Given the description of an element on the screen output the (x, y) to click on. 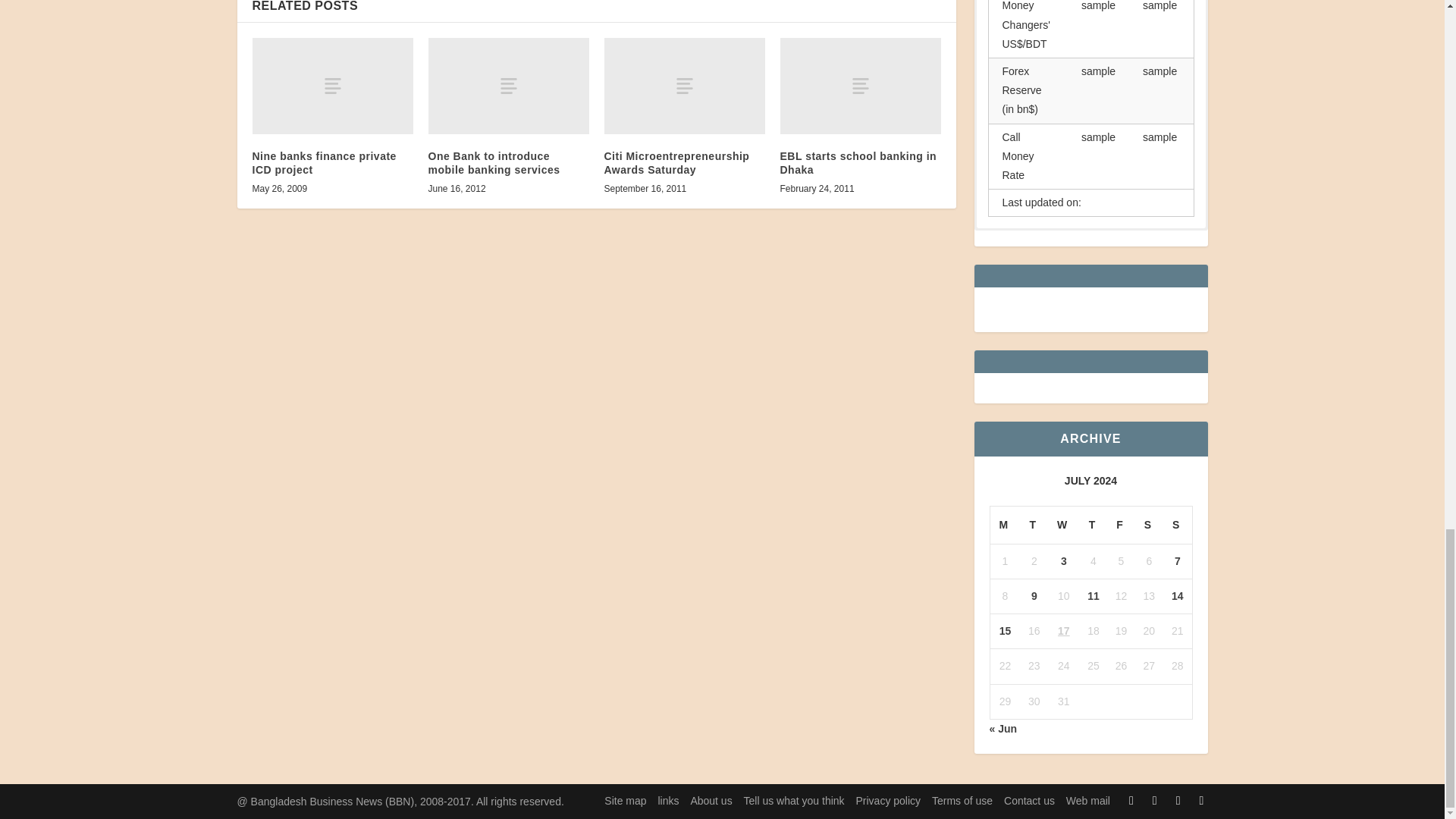
Nine banks finance private ICD project (331, 85)
One Bank to introduce mobile banking services (508, 85)
